Given the description of an element on the screen output the (x, y) to click on. 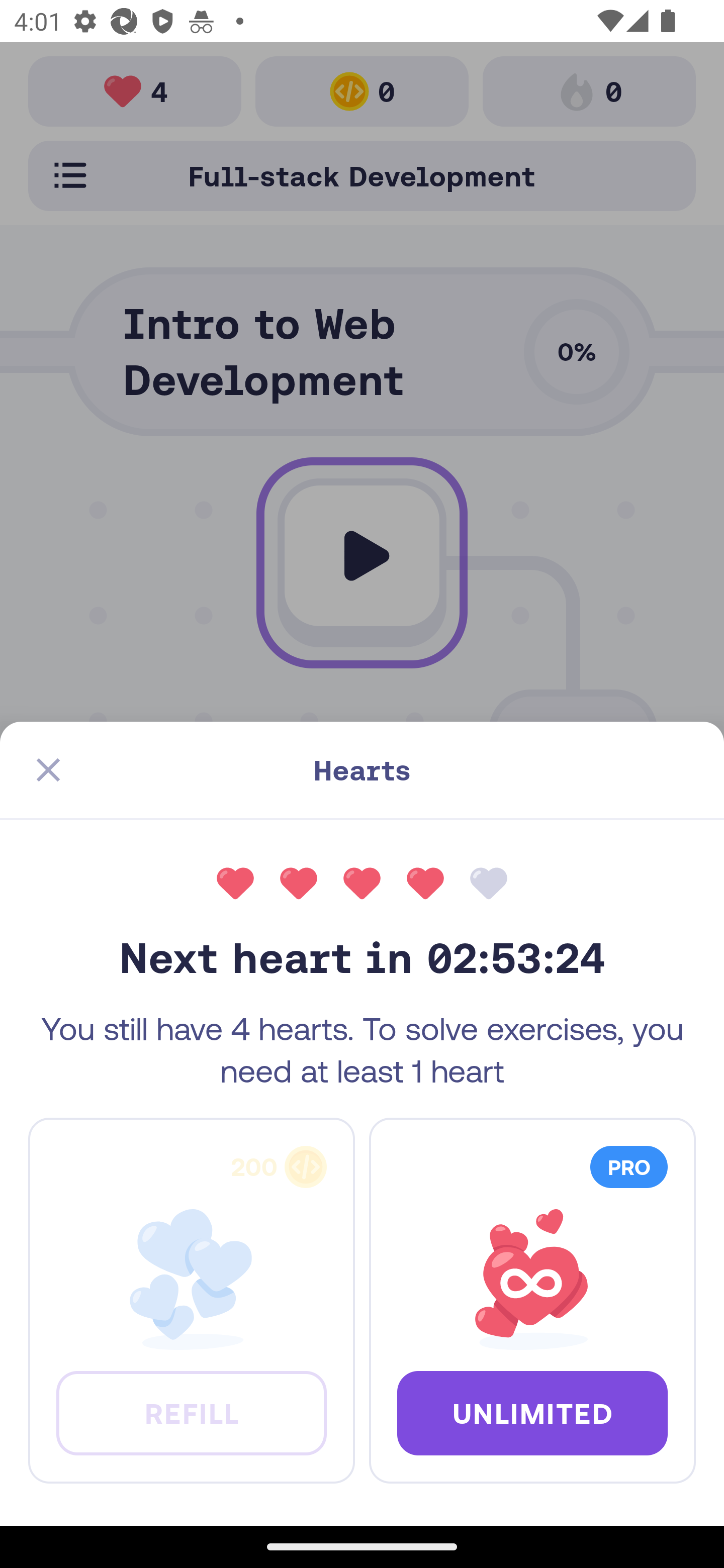
Close (47, 769)
REFILL (191, 1412)
UNLIMITED (532, 1412)
